Given the description of an element on the screen output the (x, y) to click on. 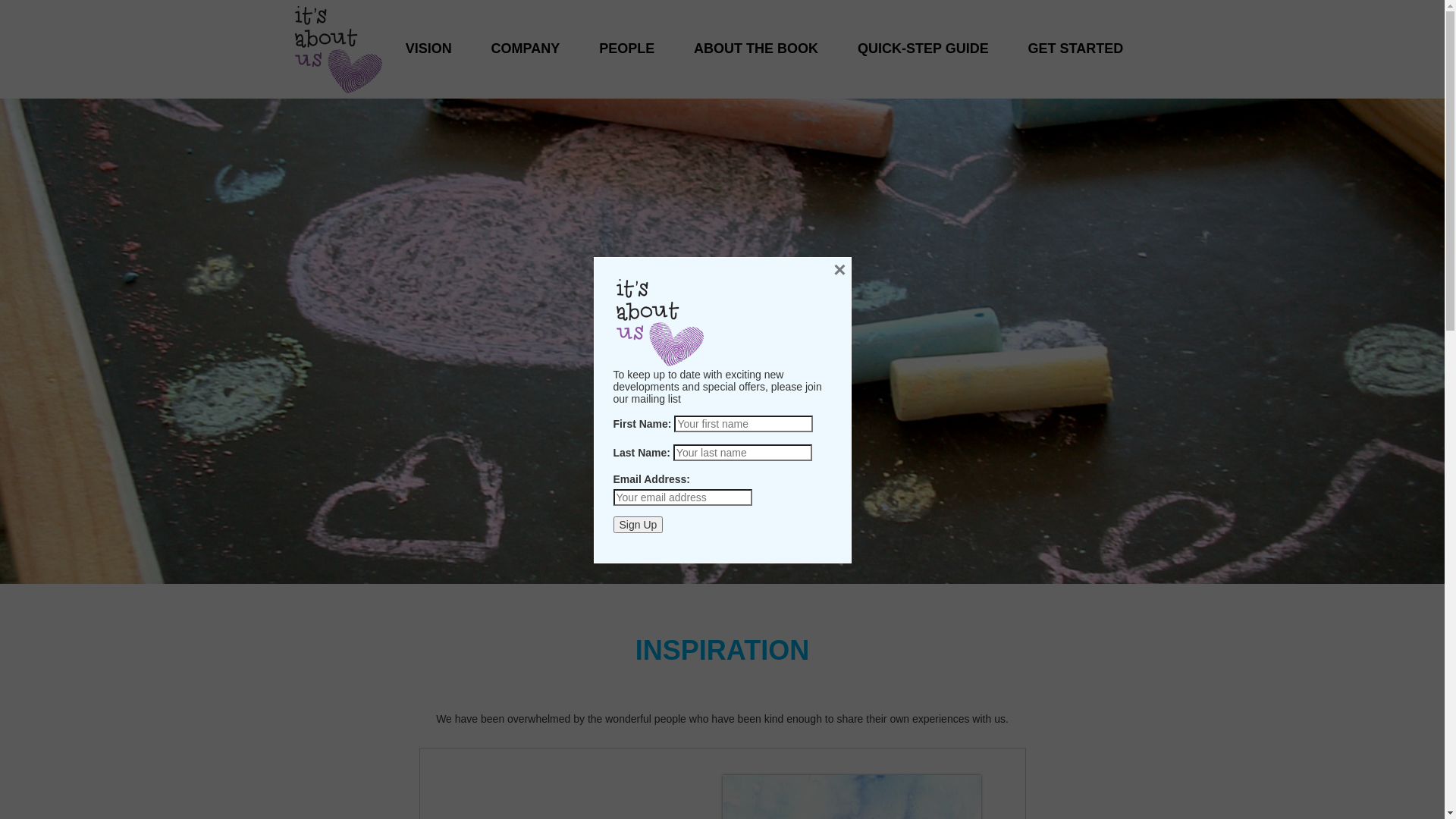
QUICK-STEP GUIDE Element type: text (923, 33)
GET STARTED Element type: text (1076, 33)
VISION Element type: text (428, 33)
HOME Element type: text (337, 49)
COMPANY Element type: text (525, 33)
PEOPLE Element type: text (626, 33)
Sign Up Element type: text (637, 524)
ABOUT THE BOOK Element type: text (755, 33)
